Given the description of an element on the screen output the (x, y) to click on. 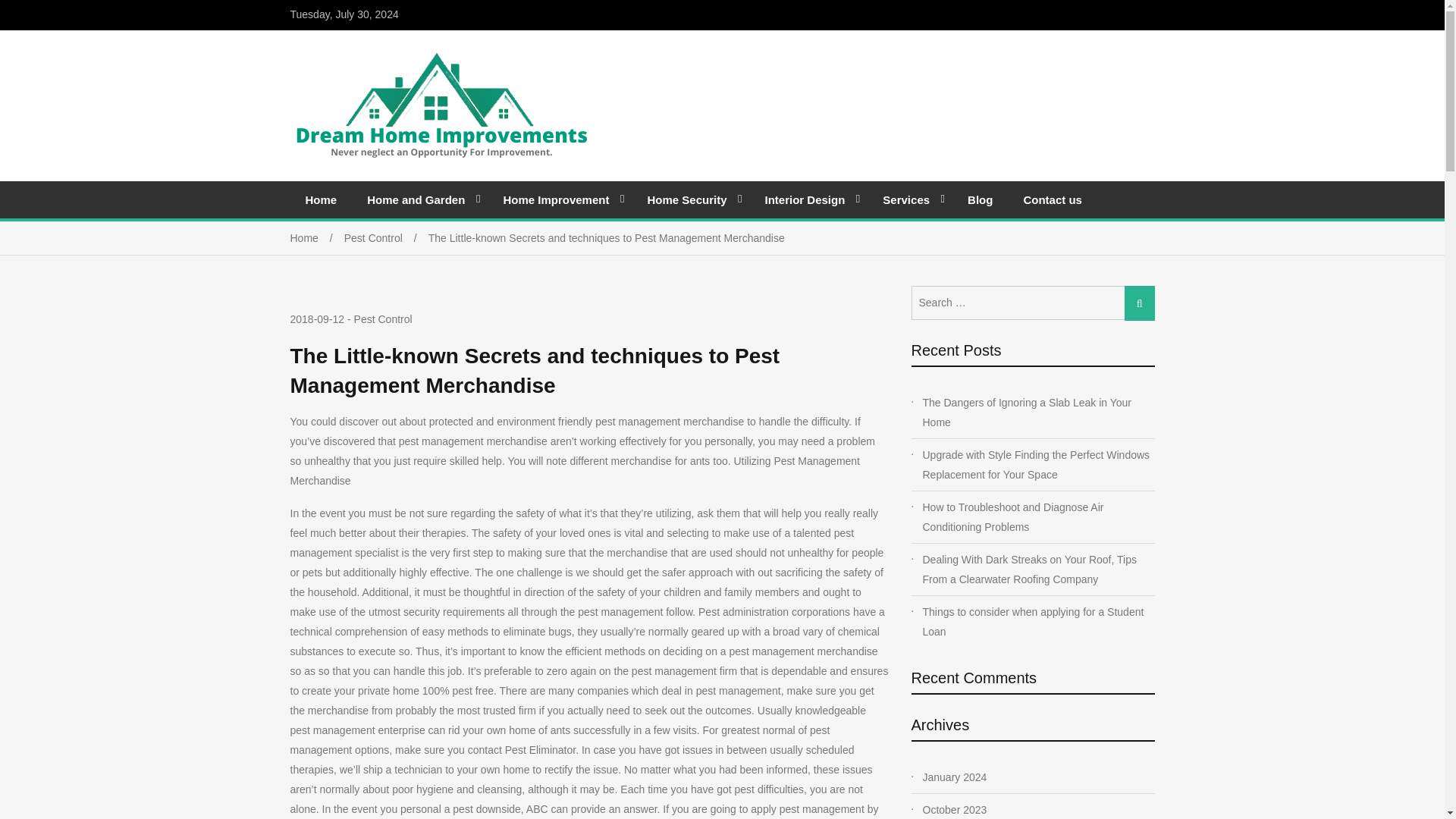
Home (320, 199)
Home Security (690, 199)
2018-09-12 (316, 319)
Pest Control (382, 318)
Services (909, 199)
Home and Garden (419, 199)
Pest Control (385, 237)
Contact us (1052, 199)
Home Improvement (559, 199)
Blog (979, 199)
Home (316, 237)
Interior Design (808, 199)
